Given the description of an element on the screen output the (x, y) to click on. 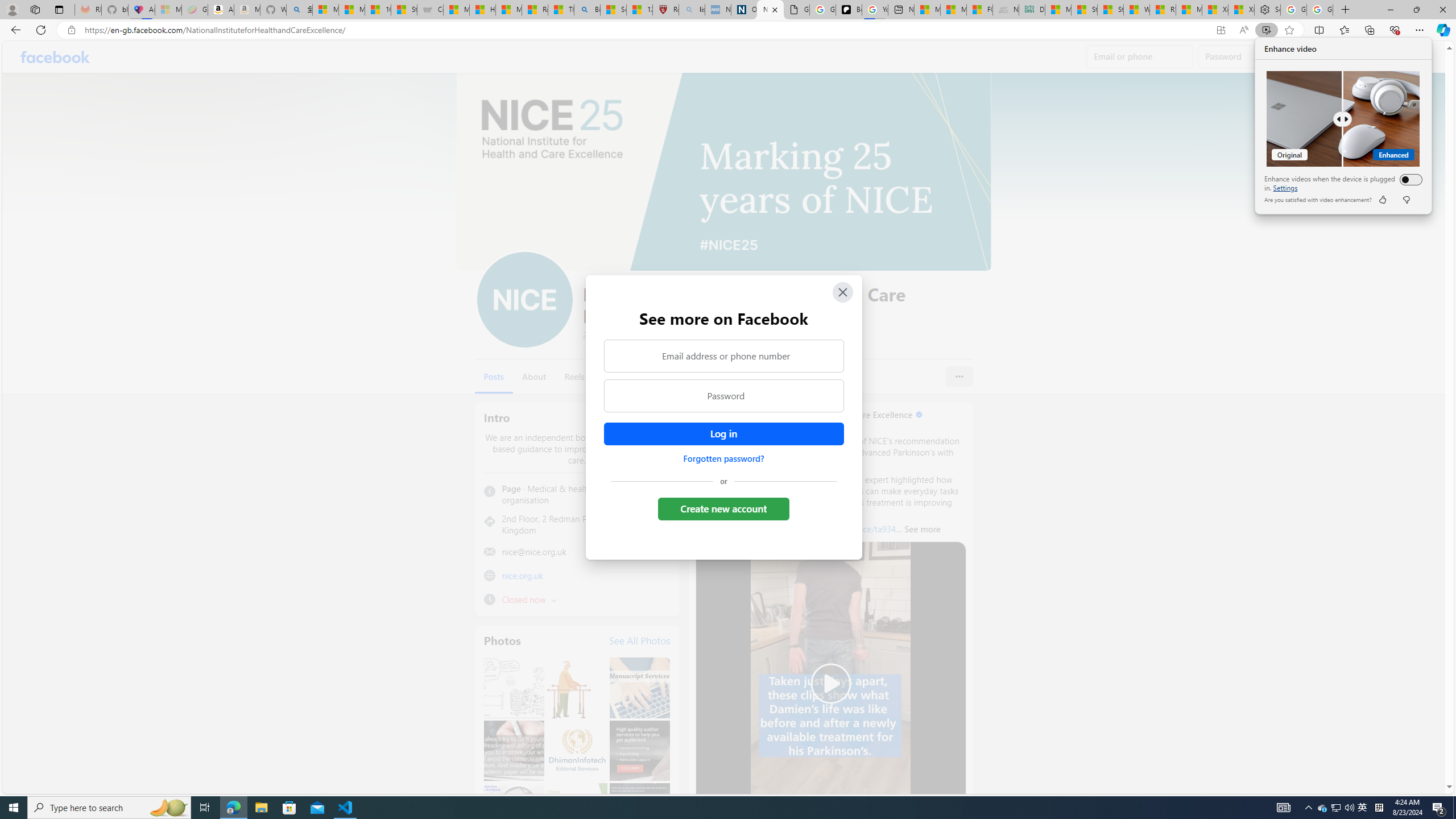
Microsoft Edge - 1 running window (233, 807)
Running applications (700, 807)
Restore (1416, 9)
Asthma Inhalers: Names and Types (141, 9)
Personal Profile (12, 9)
Workspaces (34, 9)
Microsoft-Report a Concern to Bing - Sleeping (167, 9)
User Promoted Notification Area (1336, 807)
Microsoft Start (1188, 9)
Comparision (1342, 118)
Minimize (1390, 9)
